Given the description of an element on the screen output the (x, y) to click on. 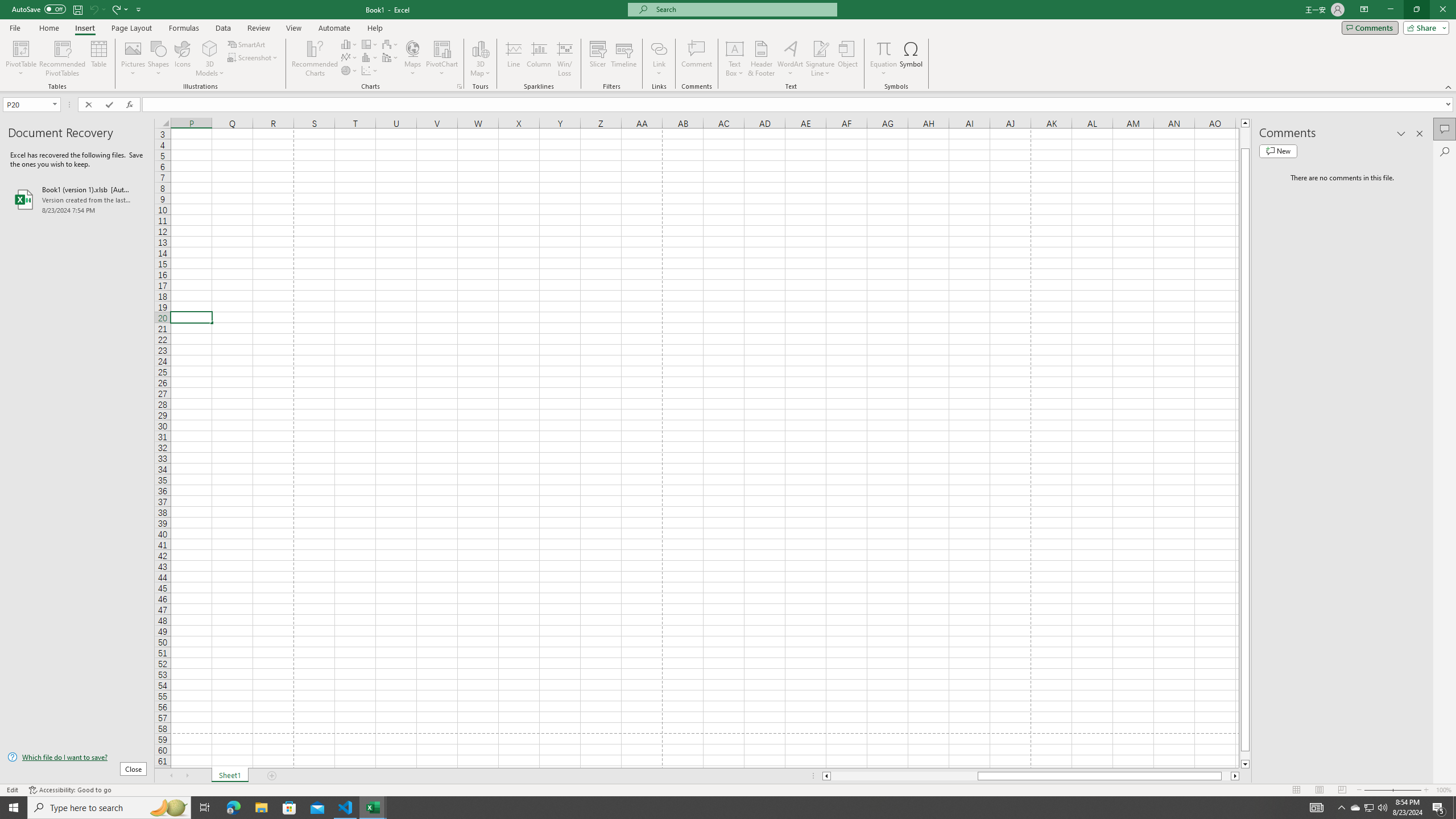
Insert Waterfall, Funnel, Stock, Surface, or Radar Chart (390, 44)
